Given the description of an element on the screen output the (x, y) to click on. 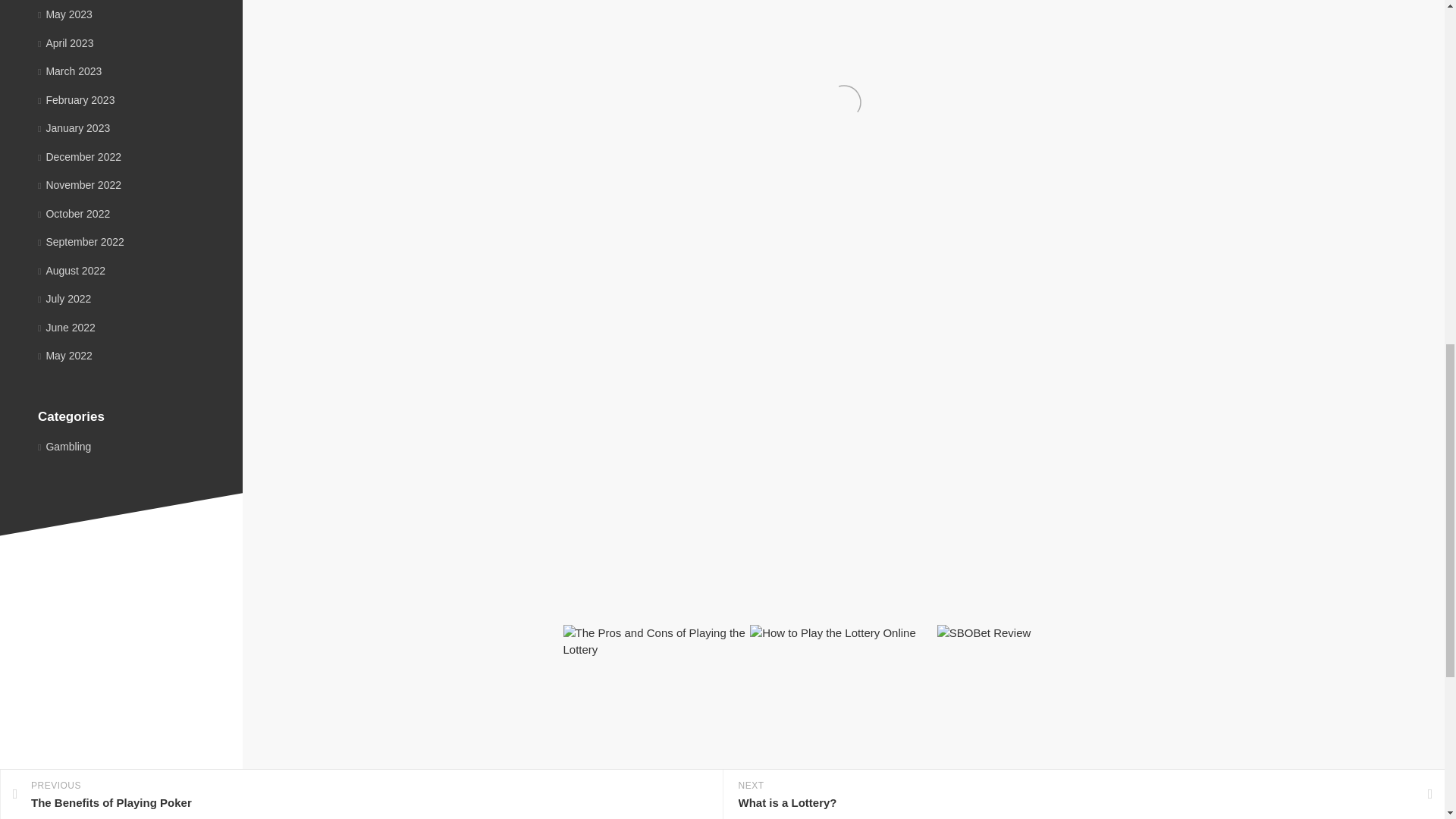
March 2023 (69, 70)
December 2022 (78, 155)
October 2022 (73, 214)
April 2023 (65, 42)
The Pros and Cons of Playing the Lottery (624, 762)
SBOBet Review (983, 753)
January 2023 (73, 128)
May 2023 (65, 14)
How to Play the Lottery Online (816, 762)
November 2022 (78, 184)
February 2023 (76, 100)
